Given the description of an element on the screen output the (x, y) to click on. 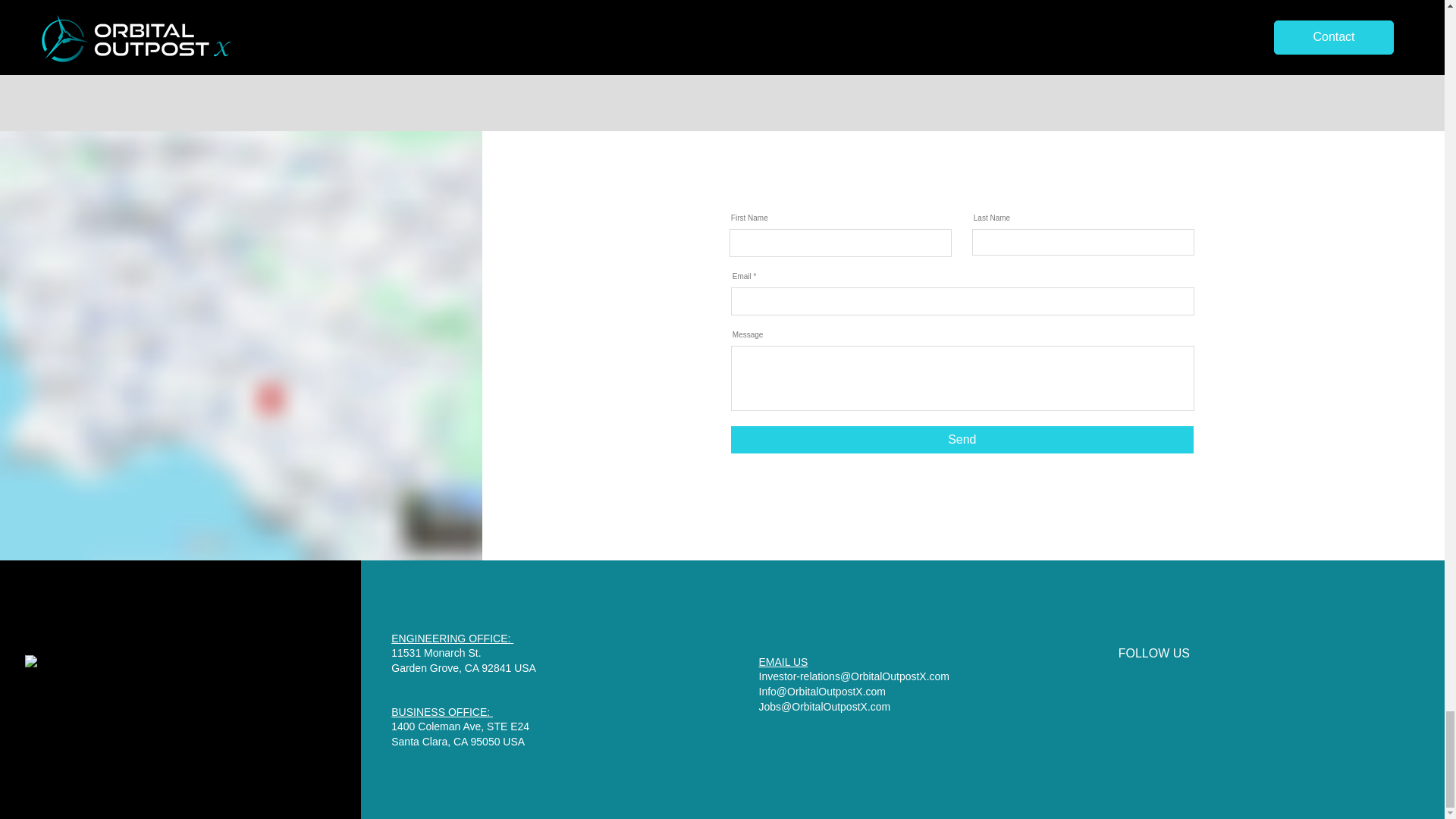
Send (961, 439)
